Given the description of an element on the screen output the (x, y) to click on. 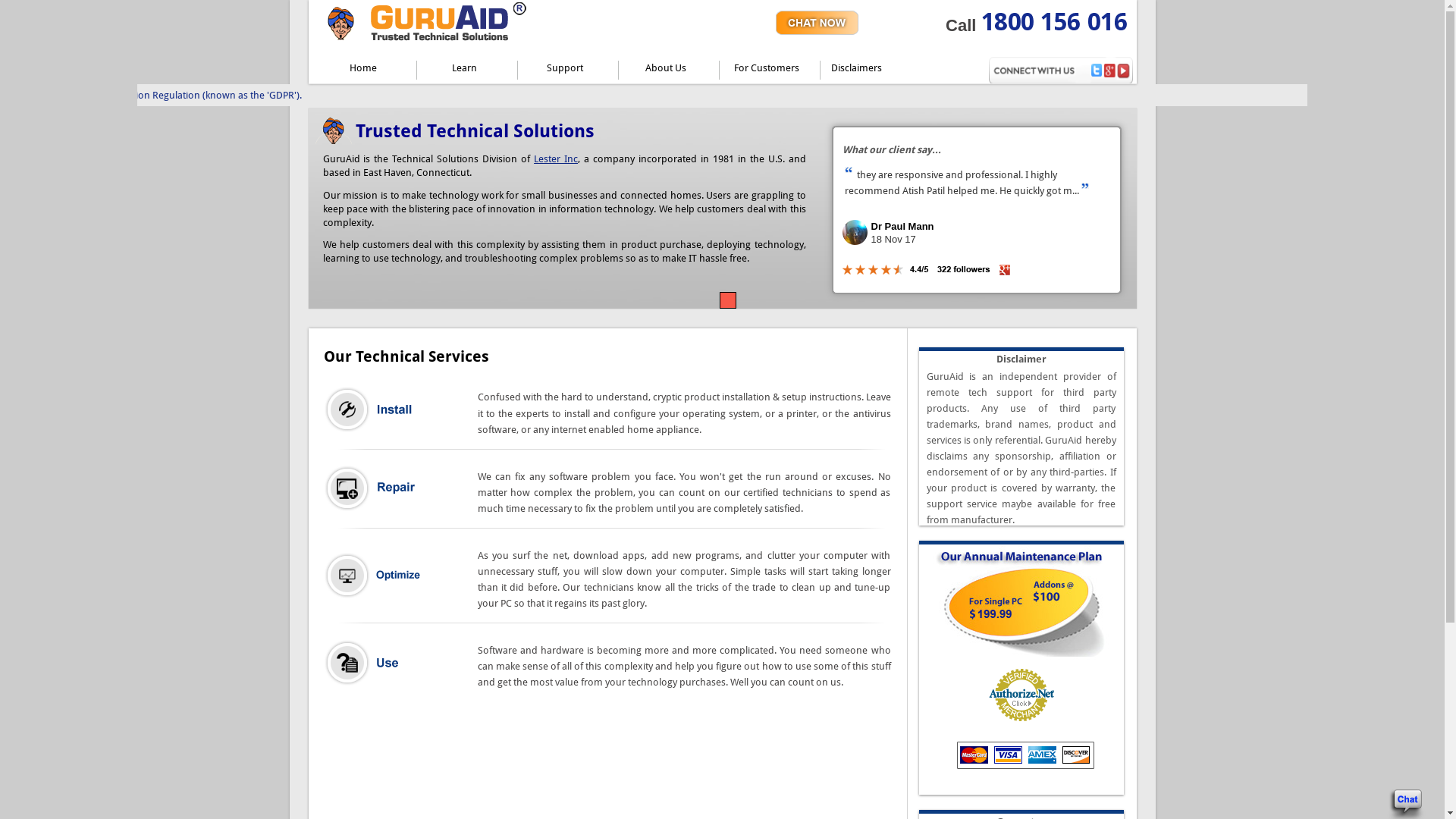
Use Element type: hover (371, 662)
Optimize Element type: hover (371, 575)
Chat Now Element type: hover (816, 22)
Installaion Element type: hover (371, 409)
Learn Element type: text (467, 70)
  Element type: text (816, 22)
GURUAID | Trusted Technical Support Element type: hover (430, 40)
Lester Inc Element type: text (555, 158)
Authorize.Net Verified Merchant Seal Element type: hover (1021, 694)
Home Element type: text (365, 70)
Repair Element type: hover (371, 488)
For Customers Element type: text (768, 70)
GuruAid's Annual Maintenance Plan for Single PC | Addons Element type: hover (1021, 602)
GURUAID | Trusted Technical Support Element type: hover (430, 22)
Support Element type: text (567, 70)
GuruAid Element type: hover (333, 130)
About Us Element type: text (668, 70)
Disclaimers Element type: text (881, 70)
